Given the description of an element on the screen output the (x, y) to click on. 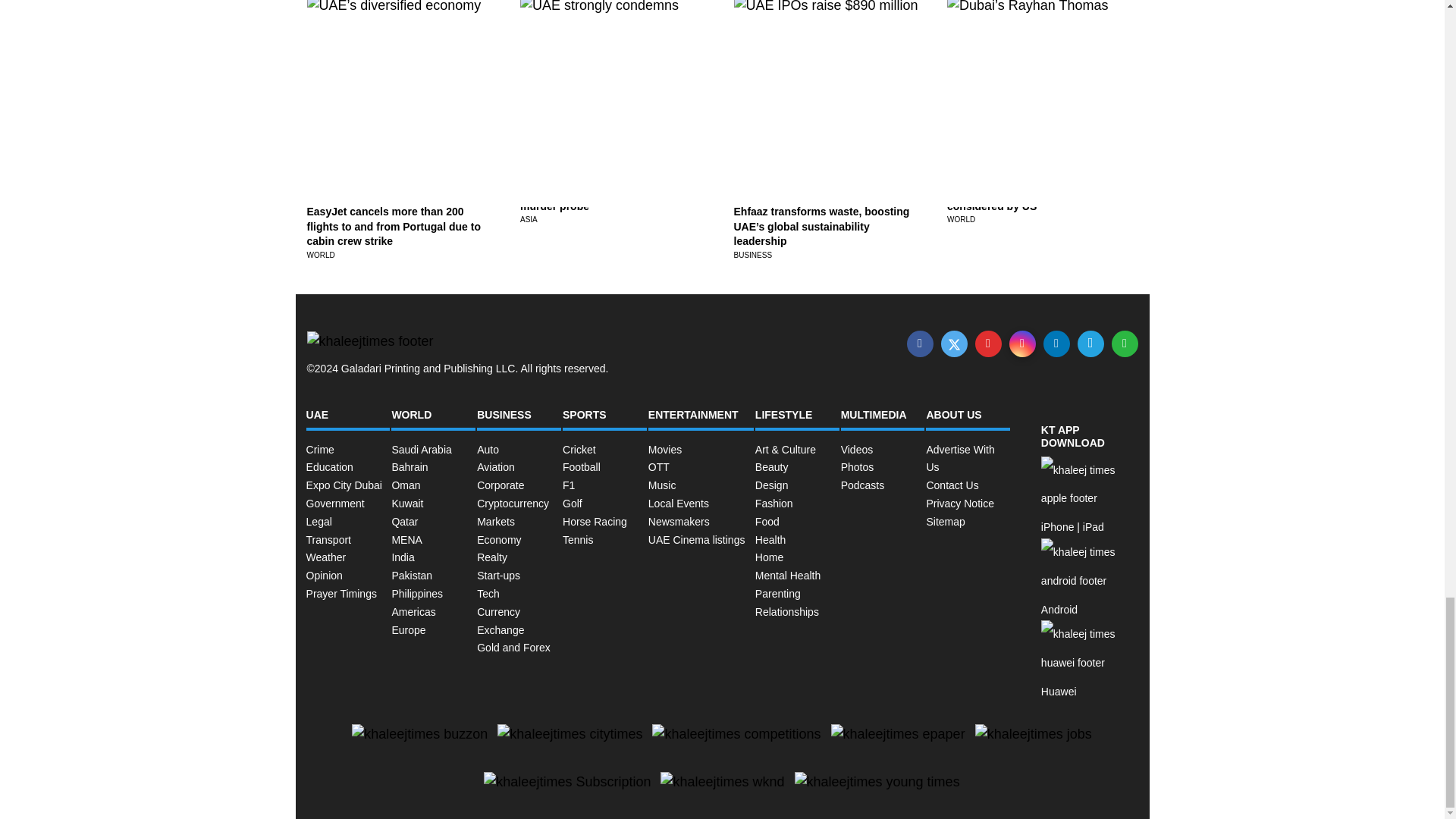
India's top police take over medic murder probe (604, 198)
Breaking up Google an option being considered by US  (1038, 198)
